Given the description of an element on the screen output the (x, y) to click on. 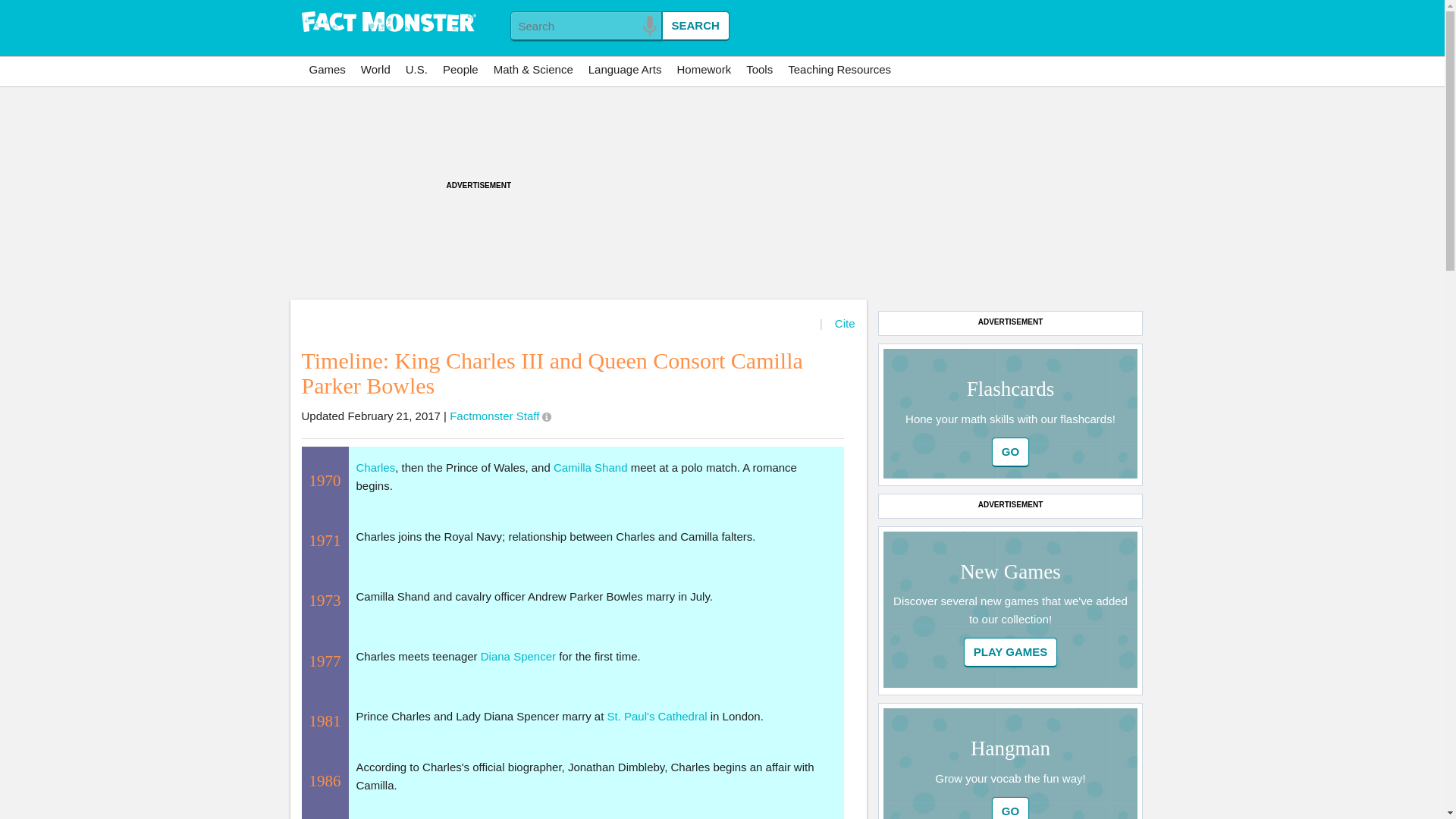
Visit our teacher resource sister site! (839, 69)
Games (327, 69)
Updated by an Factmonster Editor on February 21, 2017 (546, 416)
Search (695, 25)
Search (695, 25)
Go (1010, 807)
Enter the terms you wish to search for. (585, 25)
Go (1010, 451)
Go (1010, 451)
Search (695, 25)
